Given the description of an element on the screen output the (x, y) to click on. 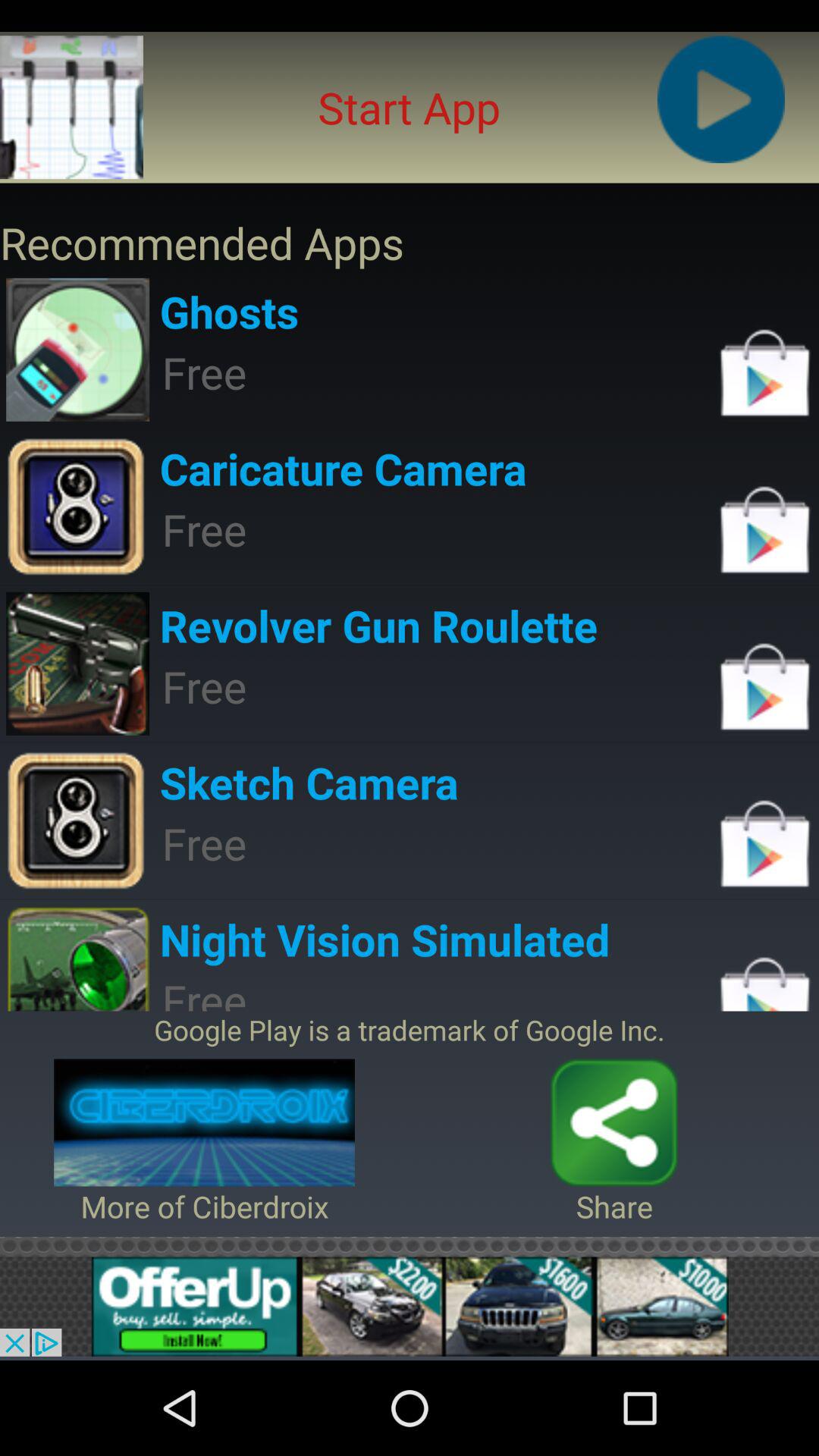
advertisement click option (409, 1306)
